Given the description of an element on the screen output the (x, y) to click on. 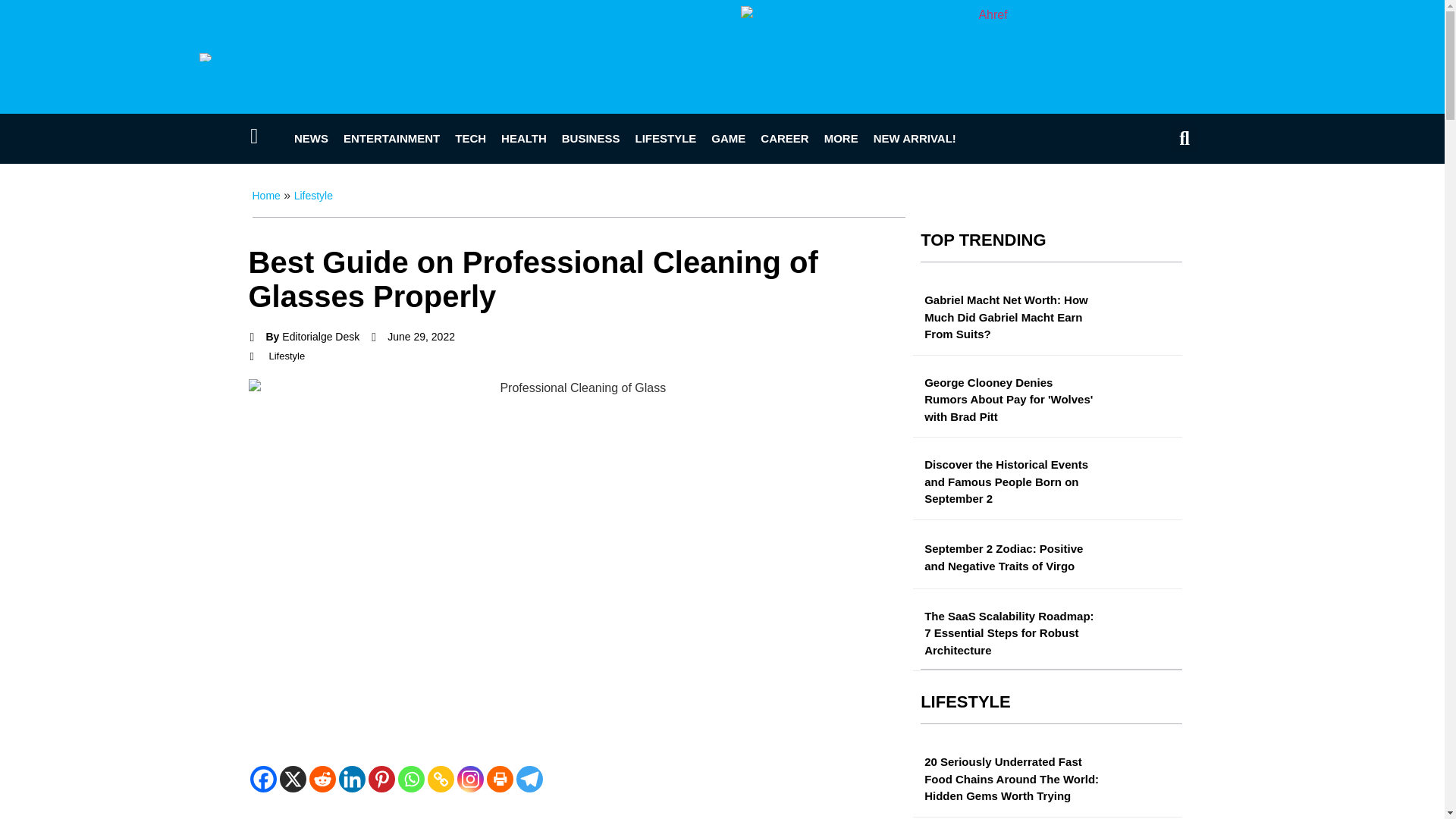
TECH (469, 138)
LIFESTYLE (665, 138)
Instagram (470, 778)
BUSINESS (590, 138)
NEWS (311, 138)
Facebook (263, 778)
Print (499, 778)
CAREER (783, 138)
Reddit (322, 778)
Pinterest (381, 778)
